Given the description of an element on the screen output the (x, y) to click on. 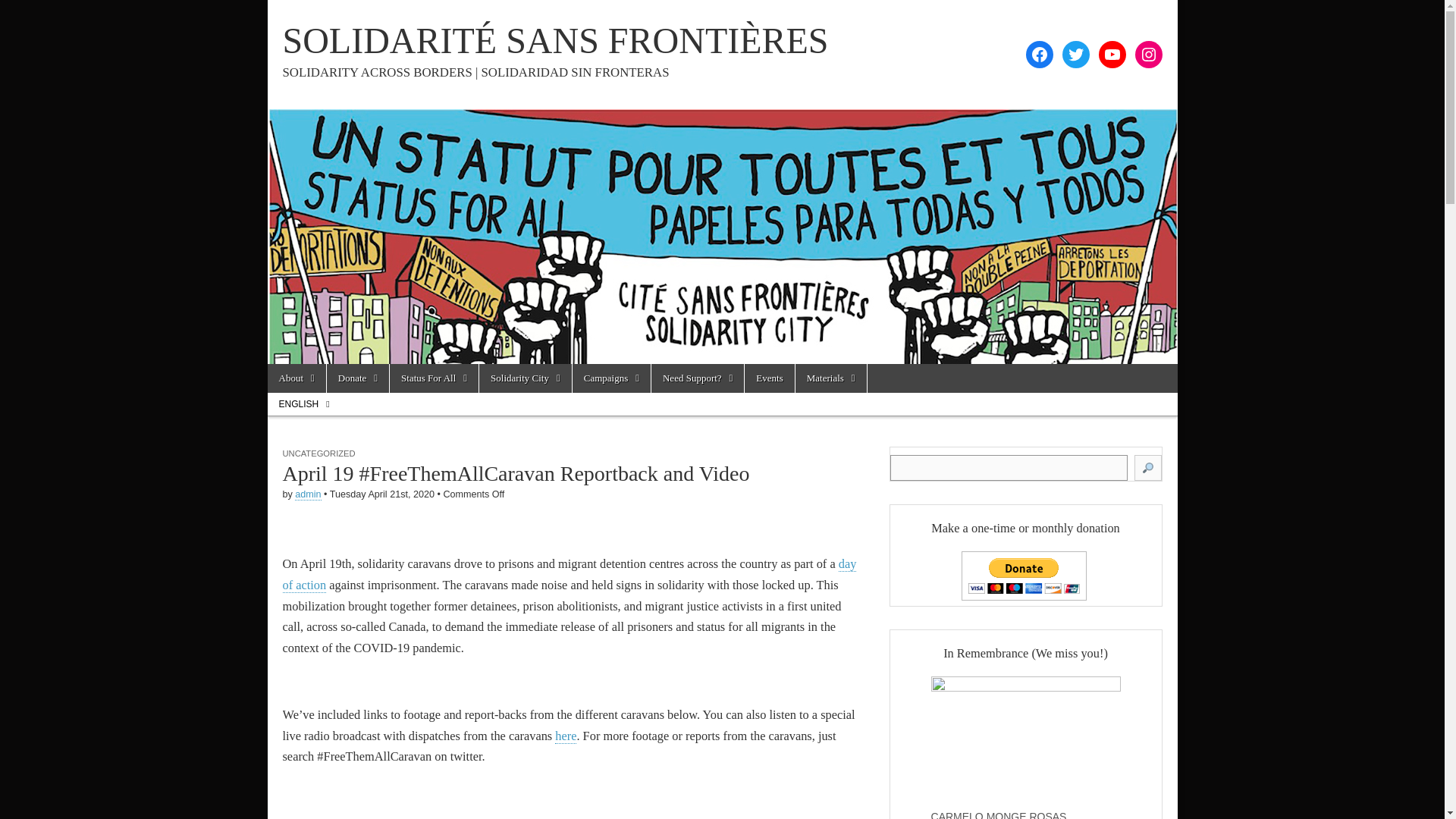
Donate (357, 378)
Instagram (1147, 53)
YouTube (1111, 53)
Facebook (1038, 53)
Twitter (1075, 53)
Status For All (434, 378)
Solidarity City (525, 378)
Campaigns (611, 378)
English (303, 404)
Posts by admin (307, 494)
About (295, 378)
